Given the description of an element on the screen output the (x, y) to click on. 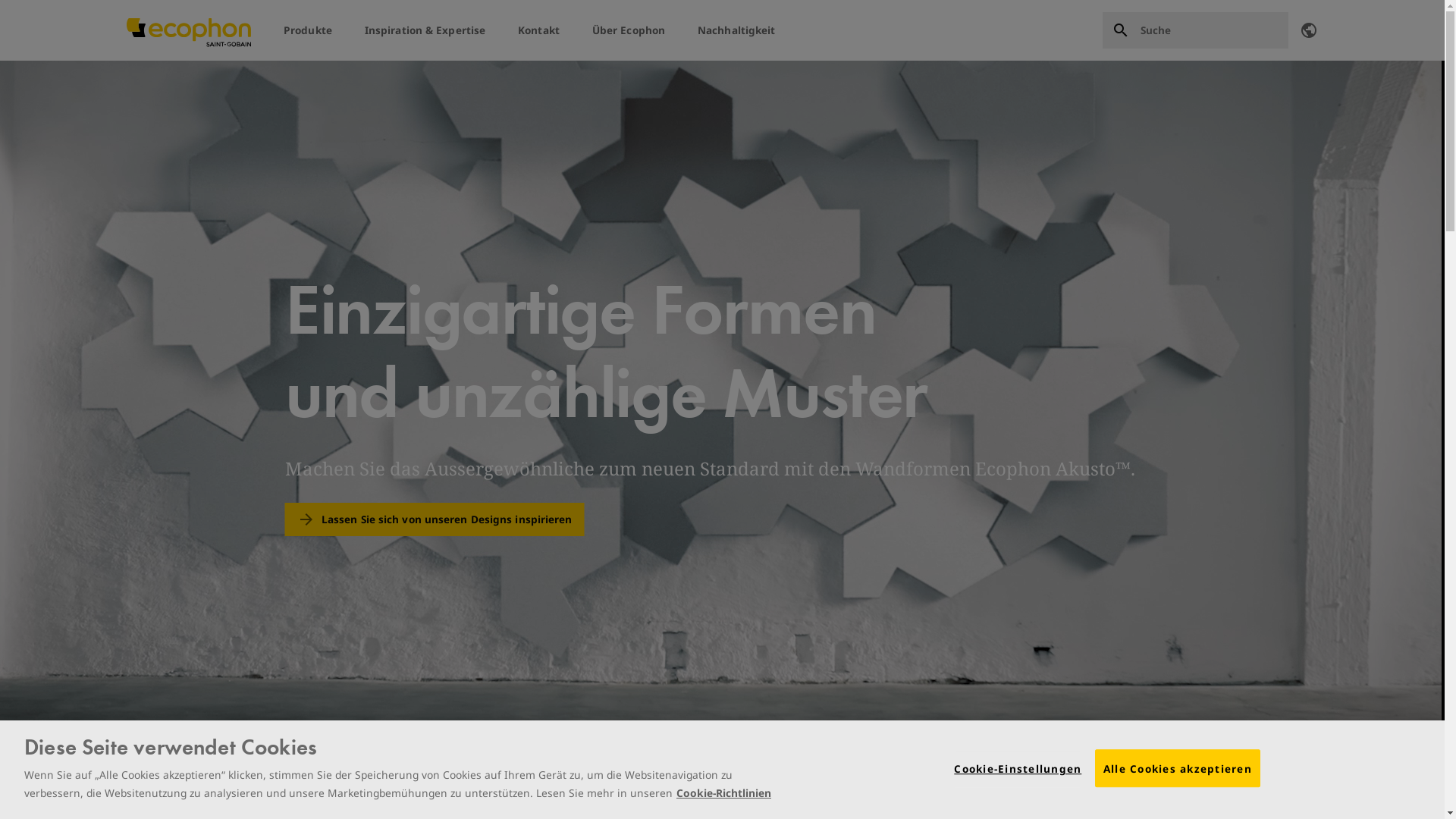
Inspiration & Expertise Element type: text (424, 30)
public Element type: text (1308, 30)
Kontakt Element type: text (538, 30)
Cookie-Einstellungen Element type: text (1017, 768)
arrow_forward
Akustikputz Element type: text (831, 777)
arrow_forward
Wandpaneele und Screens Element type: text (1147, 777)
Alle Cookies akzeptieren Element type: text (1177, 768)
arrow_forward
Deckensegel und Baffeln Element type: text (292, 777)
Cookie-Richtlinien Element type: text (723, 792)
Nachhaltigkeit Element type: text (736, 30)
arrow_forward
Akustikgewebe Element type: text (970, 777)
Produkte Element type: text (307, 30)
arrow_forward
Rasterdecken Element type: text (696, 777)
